Given the description of an element on the screen output the (x, y) to click on. 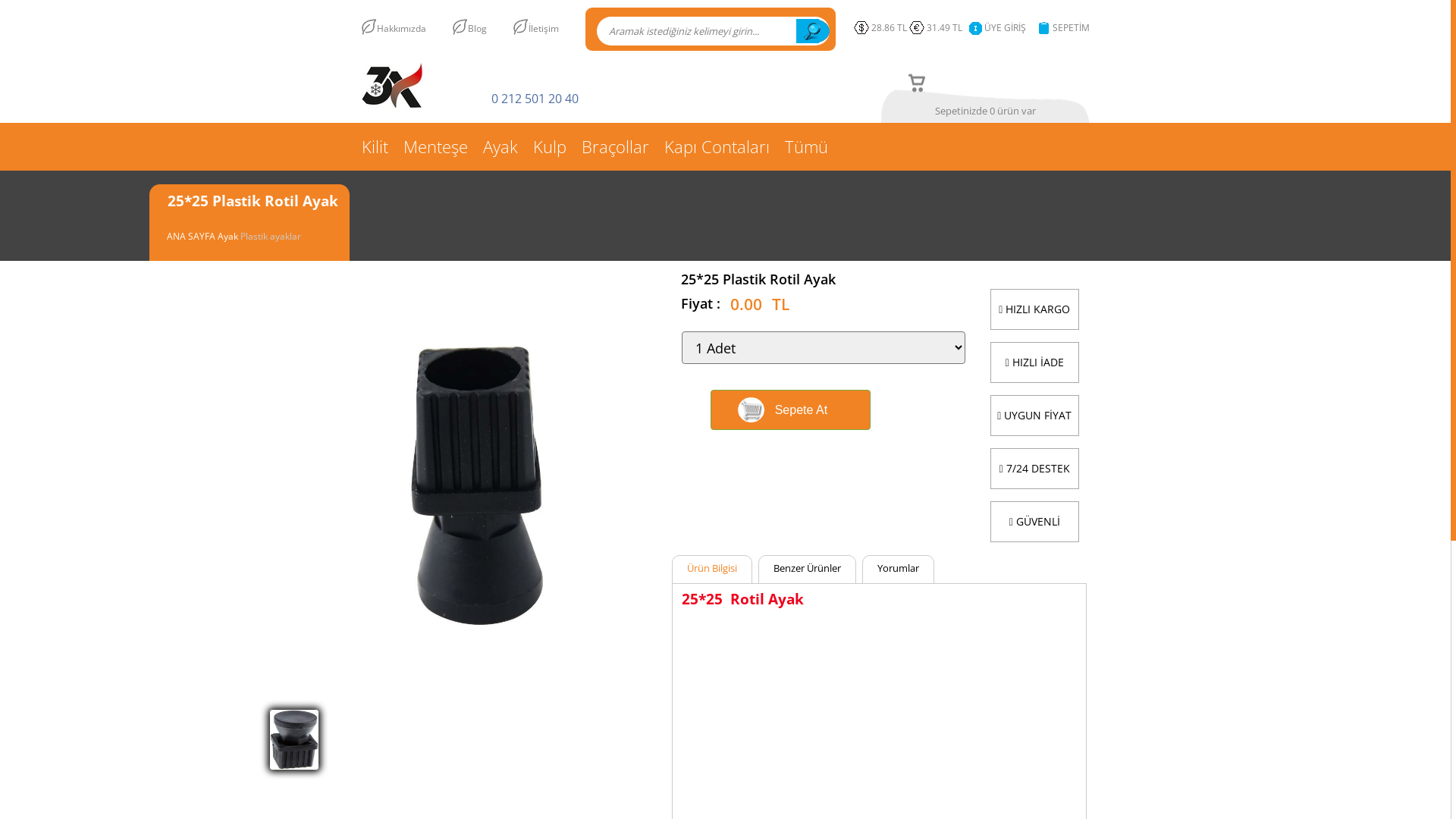
Ana Sayfa Element type: hover (393, 103)
Ayak Element type: text (228, 235)
25*25  Plastik Rotil Ayak Element type: hover (293, 765)
Sepete At Element type: text (790, 409)
Plastik ayaklar Element type: text (270, 235)
Kulp Element type: text (548, 146)
Kilit Element type: text (376, 146)
0 212 501 20 40 Element type: text (534, 98)
25*25  Plastik Rotil Ayak Element type: hover (475, 687)
  Element type: text (812, 30)
 31.49 TL    Element type: text (938, 27)
 28.86 TL  Element type: text (881, 27)
ANA SAYFA Element type: text (191, 235)
Blog Element type: text (481, 26)
Ayak Element type: text (499, 146)
